Given the description of an element on the screen output the (x, y) to click on. 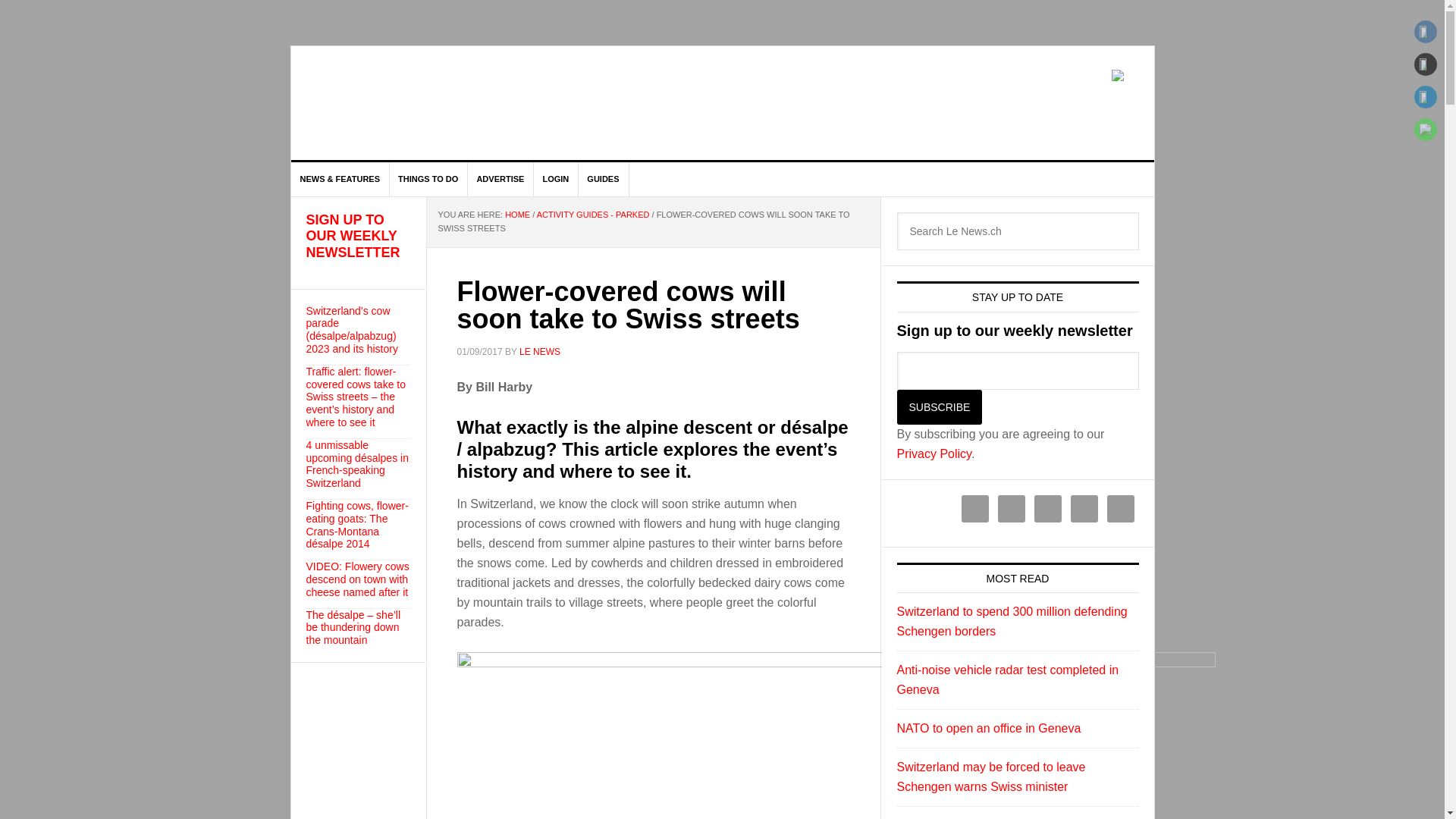
ADVERTISE (500, 179)
GUIDES (603, 179)
ACTIVITY GUIDES - PARKED (593, 214)
THINGS TO DO (427, 179)
HOME (517, 214)
LOGIN (555, 179)
WhatsApp (1425, 128)
Subscribe (938, 407)
LE NEWS (419, 102)
LE NEWS (539, 351)
